Given the description of an element on the screen output the (x, y) to click on. 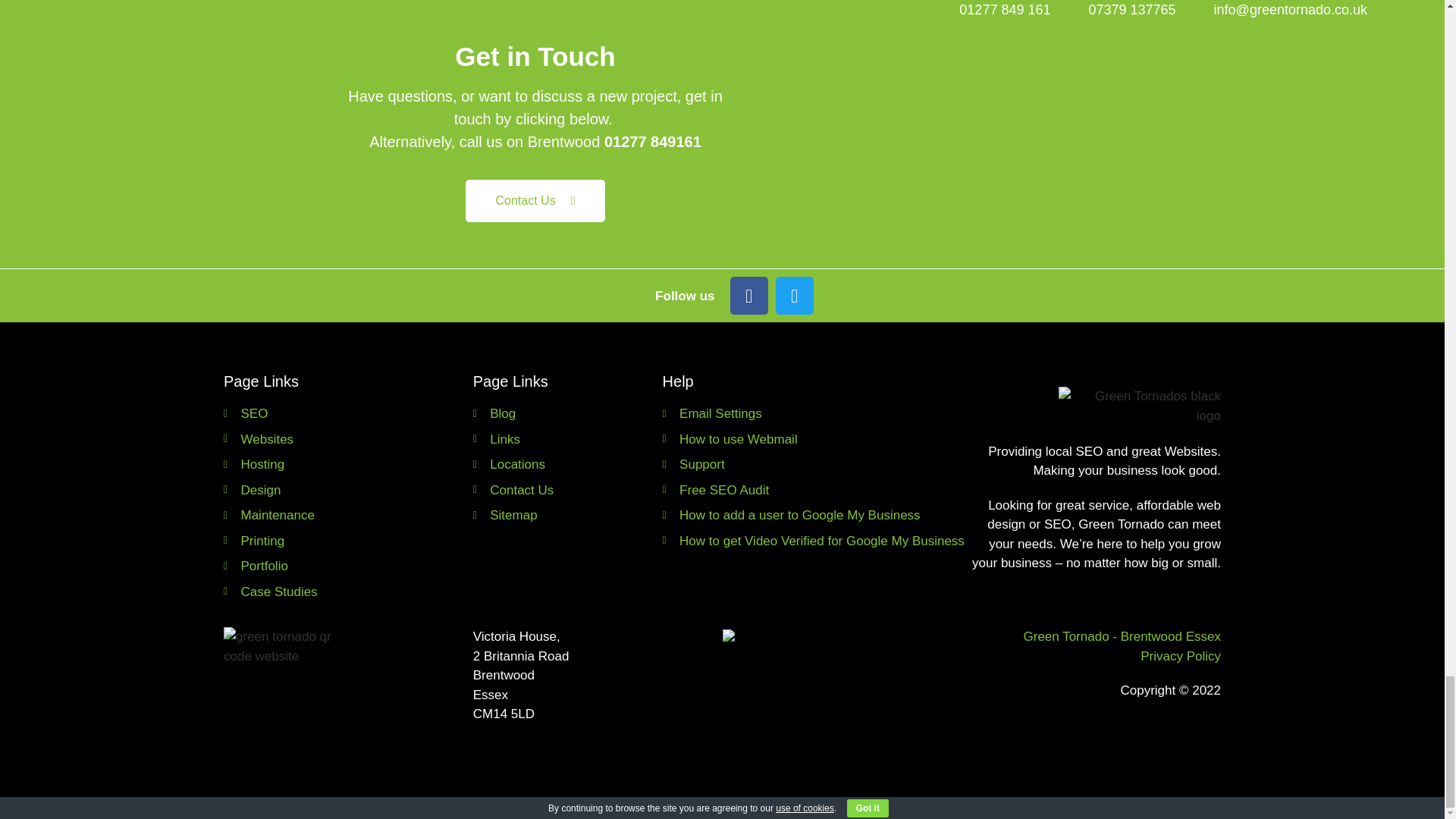
Green Tornado (1002, 132)
